Given the description of an element on the screen output the (x, y) to click on. 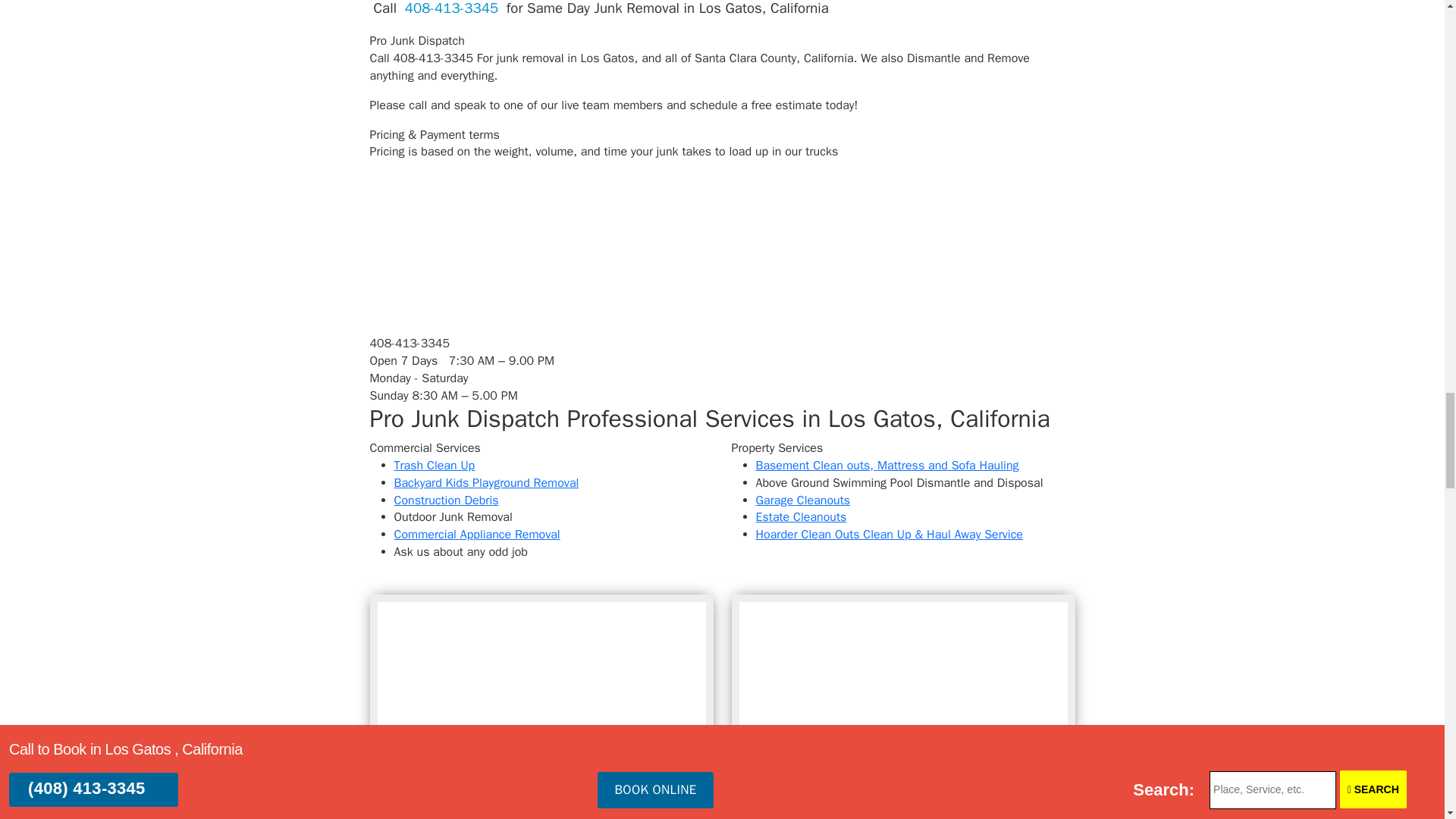
Basement Clean outs, Mattress and Sofa Hauling (886, 465)
Trash Clean Up (435, 465)
Construction Debris (446, 500)
Garage Cleanouts (802, 500)
Pro Junk Dispatch Garage Cleanout video (541, 699)
Different payment methods supported by Pro Junk Dispatch (482, 213)
Pro Junk Dispatch logo (458, 294)
Commercial Appliance Removal (477, 534)
Backyard Kids Playground Removal (486, 482)
Pro Junk Dispatch trash cleanout video (902, 699)
